Given the description of an element on the screen output the (x, y) to click on. 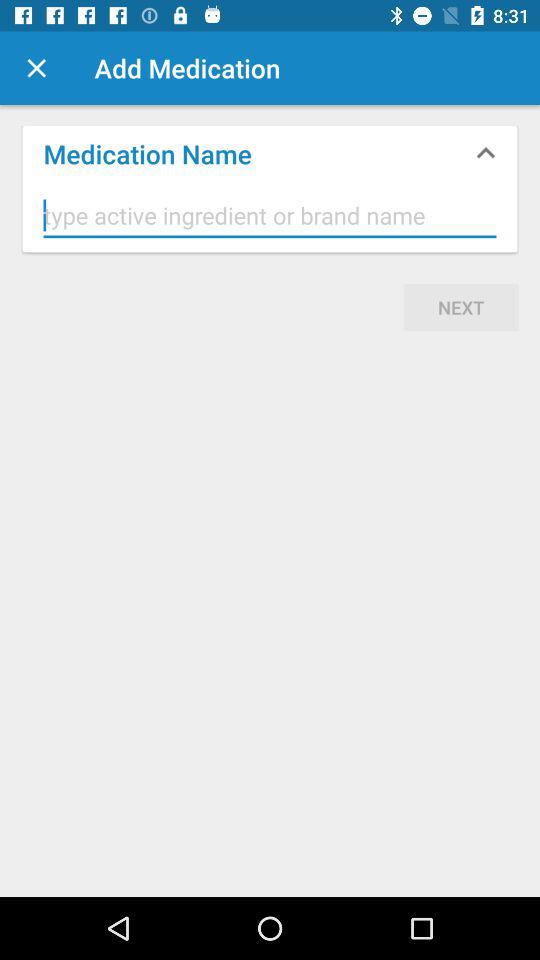
turn on icon above medication name icon (36, 68)
